Given the description of an element on the screen output the (x, y) to click on. 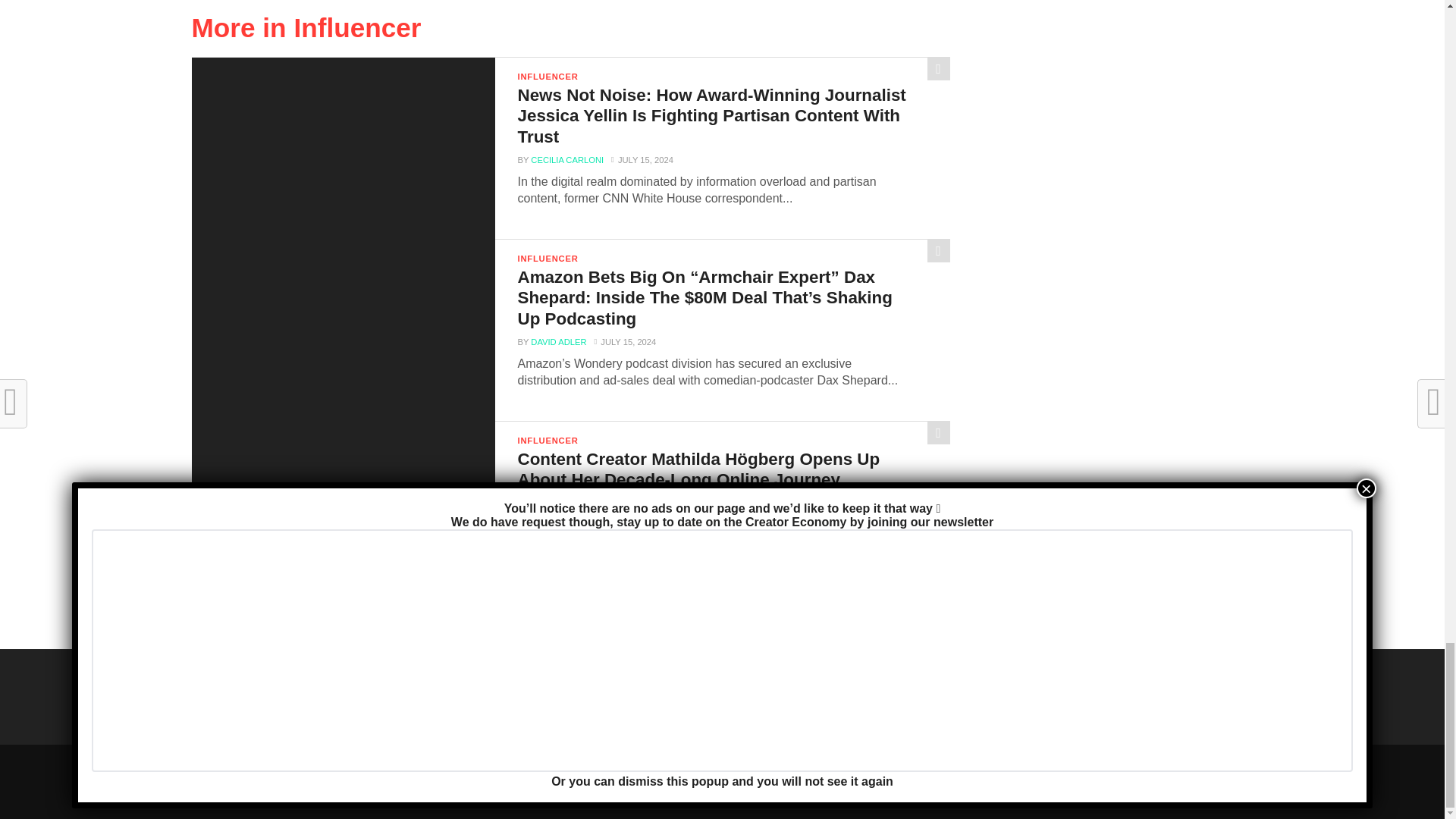
Posts by Cecilia Carloni (567, 159)
Posts by David Adler (558, 341)
